Given the description of an element on the screen output the (x, y) to click on. 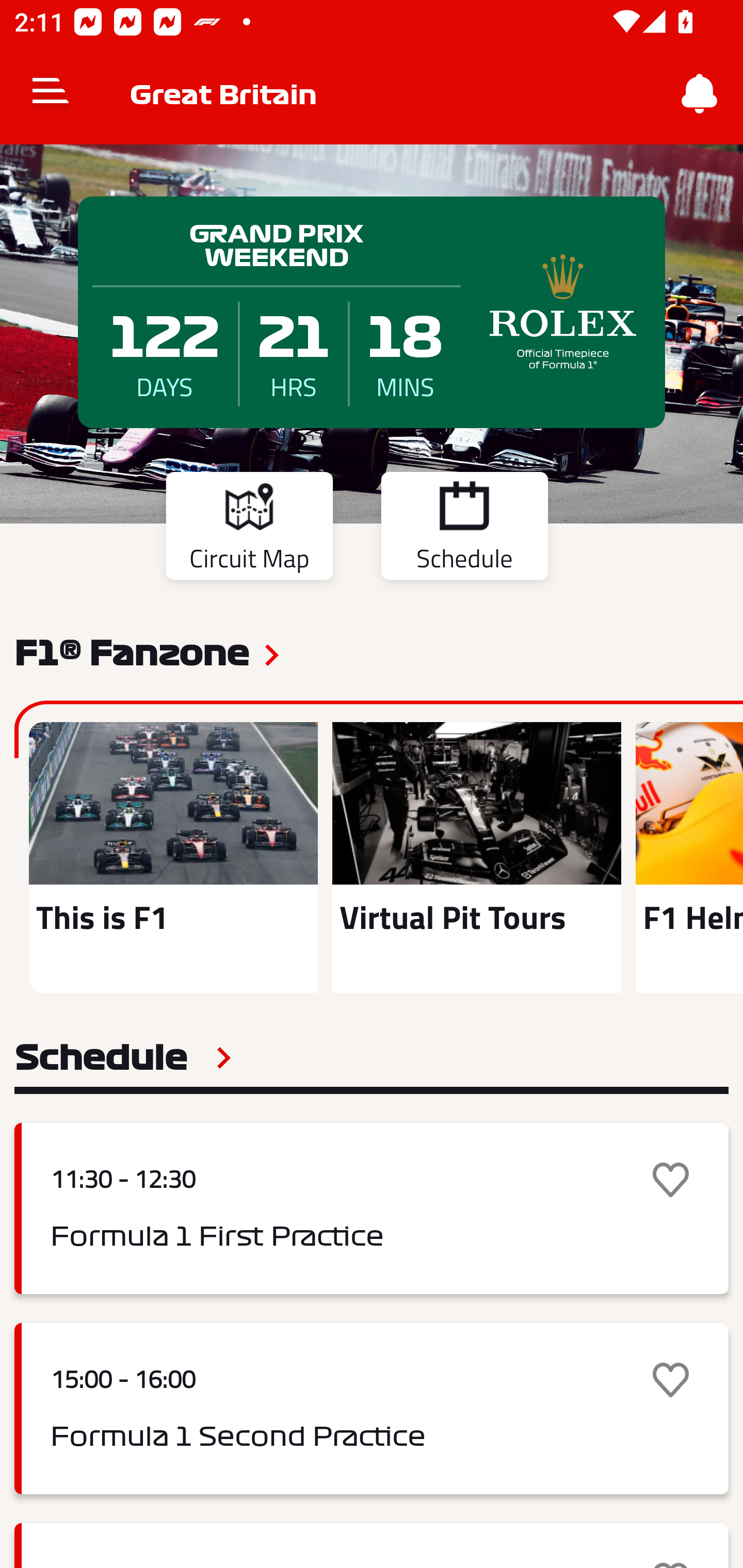
Navigate up (50, 93)
Notifications (699, 93)
Circuit Map (249, 528)
Schedule (464, 528)
F1® Fanzone (131, 651)
This is F1 (173, 857)
Virtual Pit Tours (476, 857)
Schedule (122, 1057)
11:30 - 12:30 Formula 1 First Practice (371, 1207)
15:00 - 16:00 Formula 1 Second Practice (371, 1408)
